Given the description of an element on the screen output the (x, y) to click on. 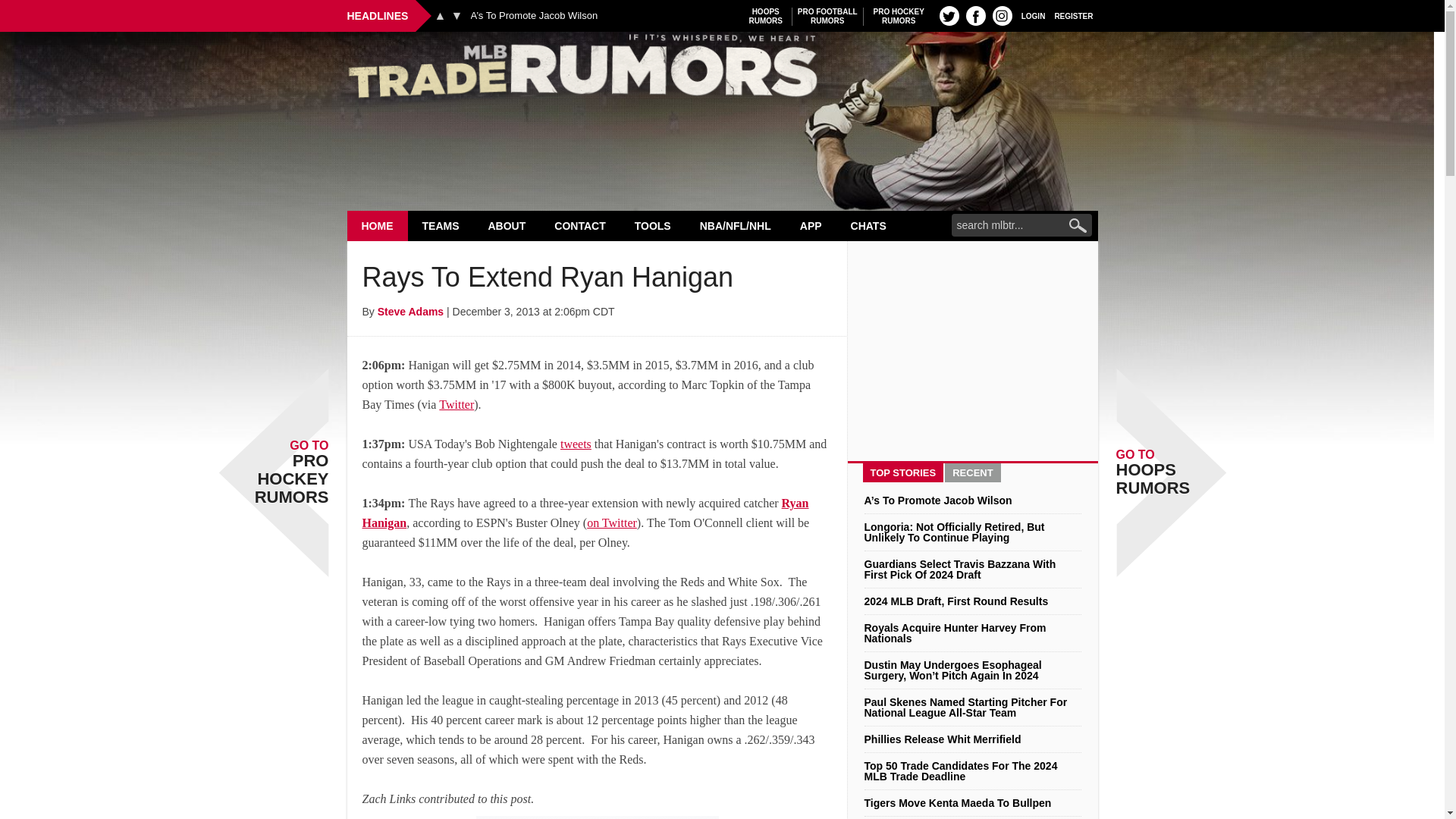
LOGIN (827, 16)
REGISTER (1032, 15)
MLB Trade Rumors (765, 16)
Search (1073, 15)
HOME (722, 69)
TEAMS (377, 225)
Instagram profile (439, 15)
Next (440, 225)
Twitter profile (898, 16)
FB profile (1001, 15)
